Given the description of an element on the screen output the (x, y) to click on. 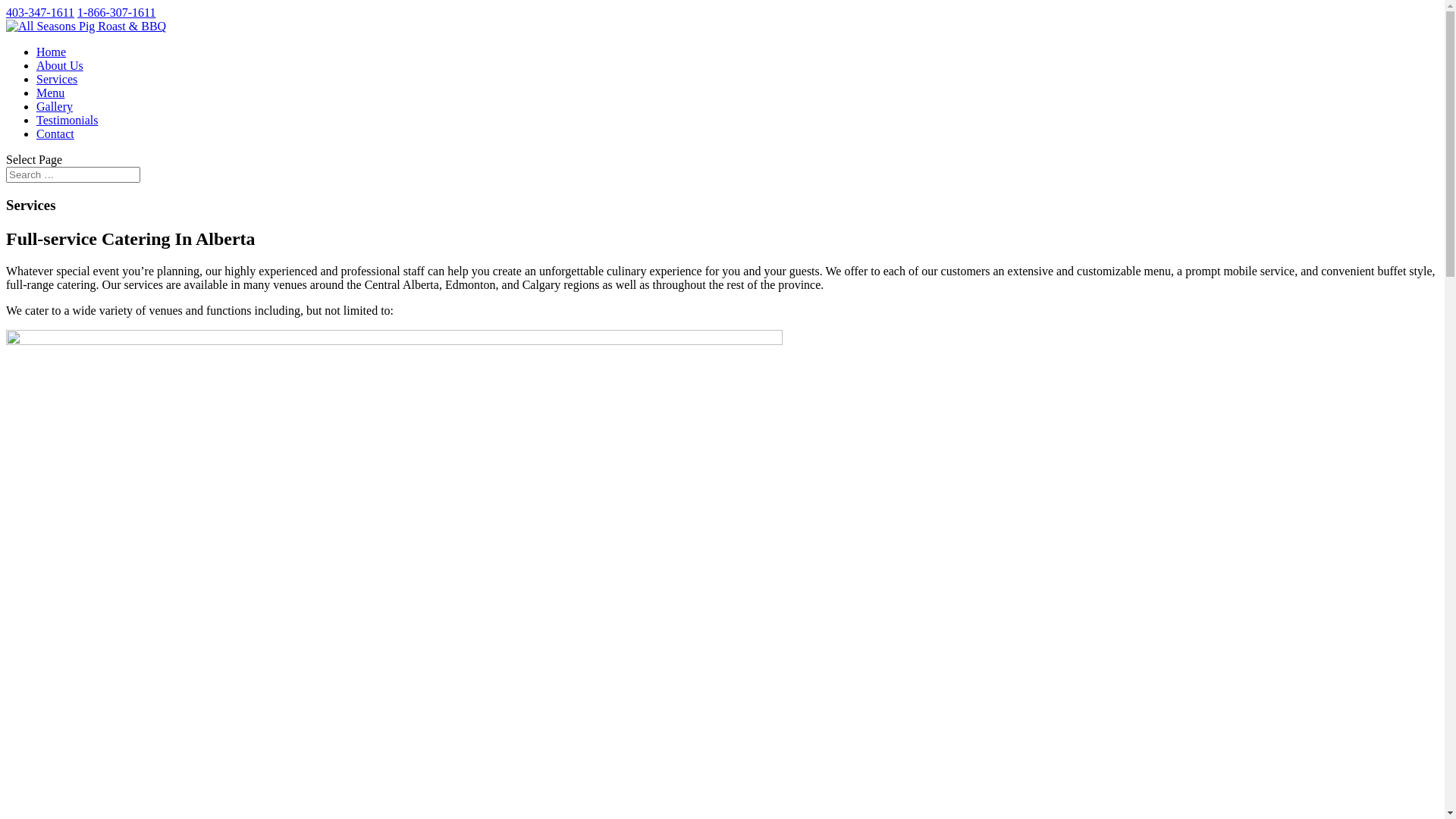
Contact Element type: text (55, 133)
Testimonials Element type: text (67, 119)
403-347-1611 Element type: text (40, 12)
Gallery Element type: text (54, 106)
1-866-307-1611 Element type: text (116, 12)
Search for: Element type: hover (73, 174)
Menu Element type: text (50, 92)
Services Element type: text (56, 78)
Home Element type: text (50, 51)
About Us Element type: text (59, 65)
